Given the description of an element on the screen output the (x, y) to click on. 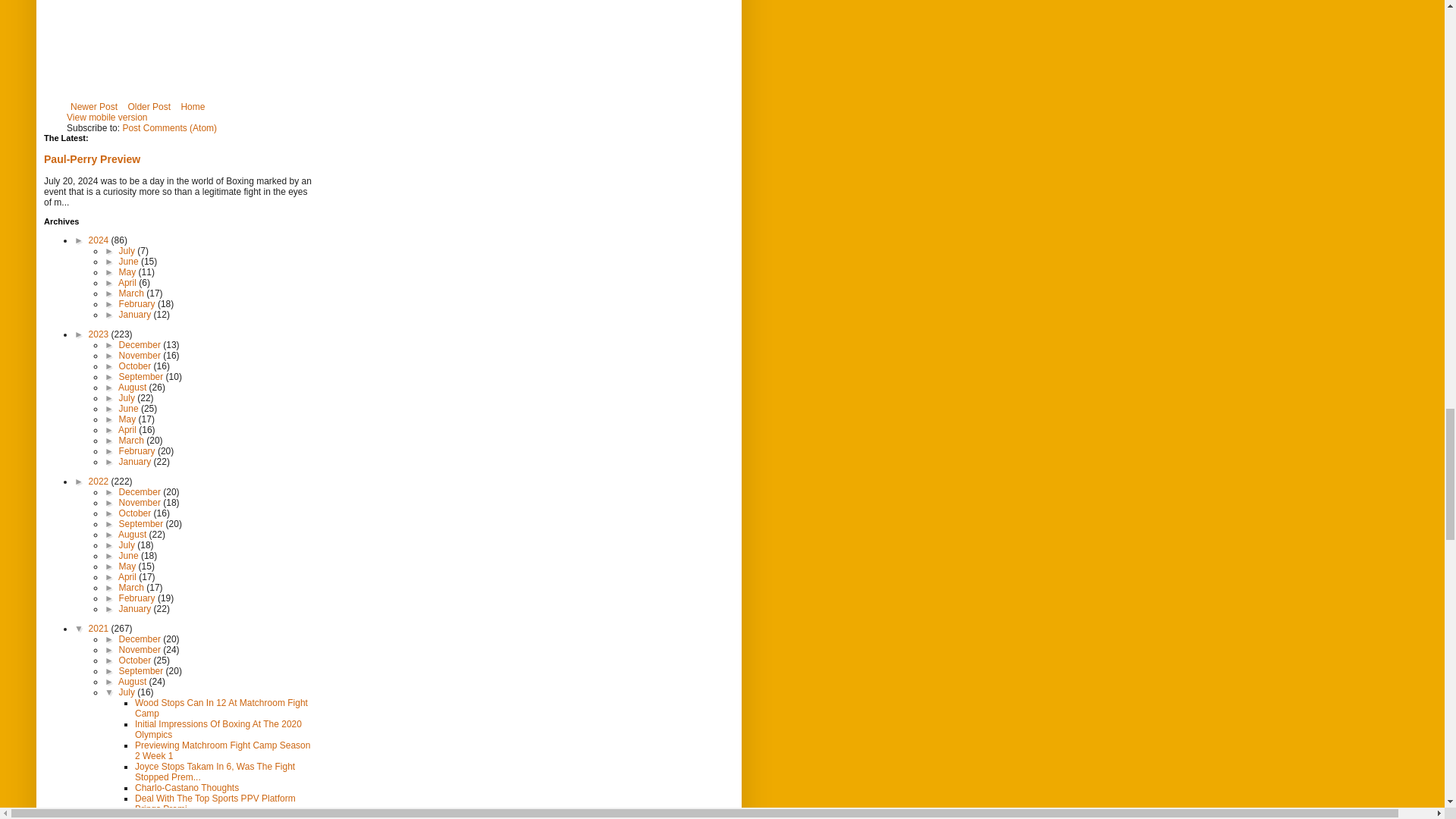
June (130, 261)
2024 (100, 240)
March (133, 293)
April (127, 282)
Newer Post (93, 106)
Home (192, 106)
View mobile version (107, 117)
May (128, 271)
Newer Post (93, 106)
Older Post (148, 106)
Older Post (148, 106)
Paul-Perry Preview (91, 159)
July (128, 250)
